Given the description of an element on the screen output the (x, y) to click on. 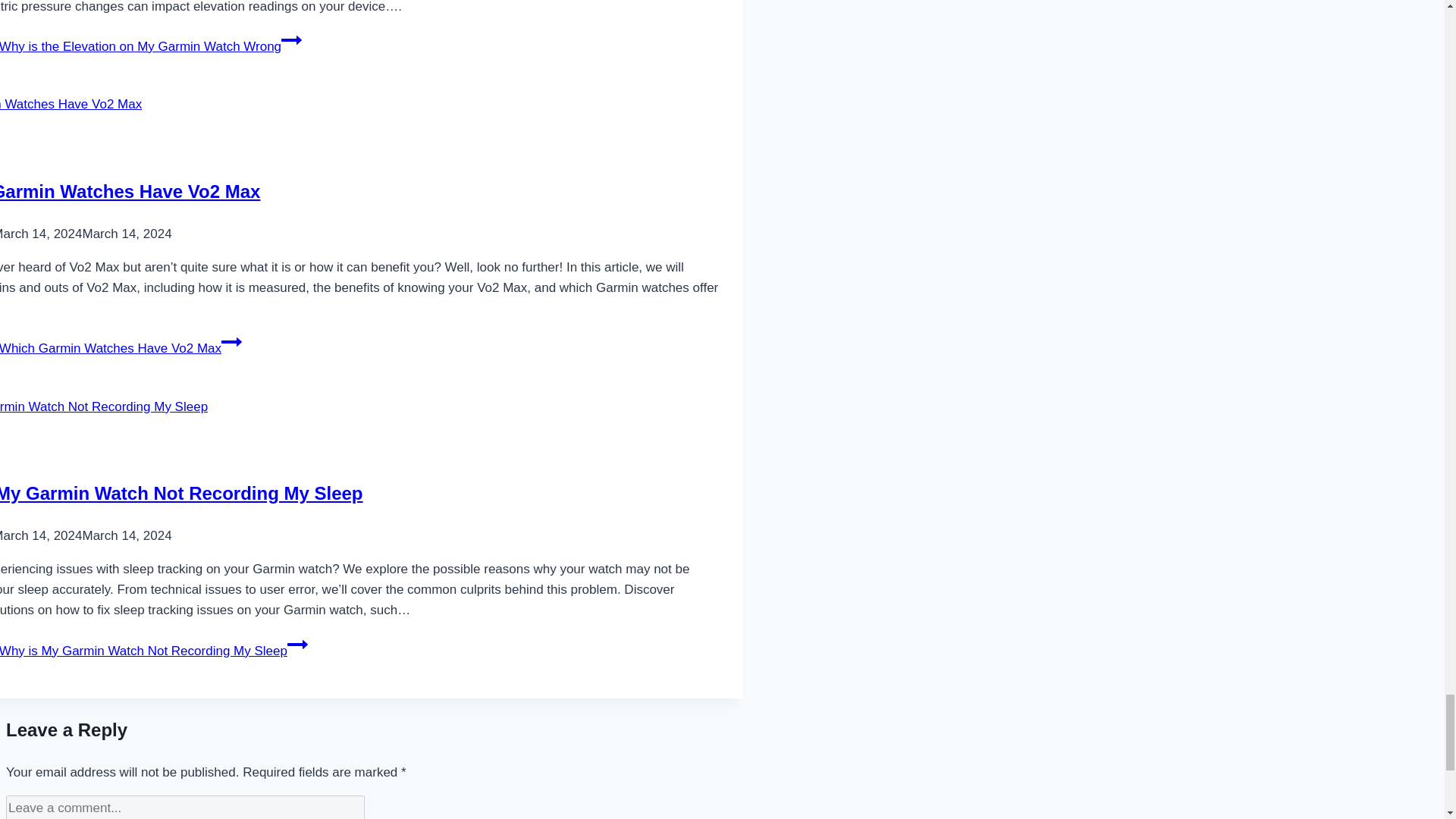
Continue (231, 341)
Which Garmin Watches Have Vo2 Max (130, 190)
Continue (291, 39)
Read More Which Garmin Watches Have Vo2 MaxContinue (120, 348)
Continue (296, 644)
